Given the description of an element on the screen output the (x, y) to click on. 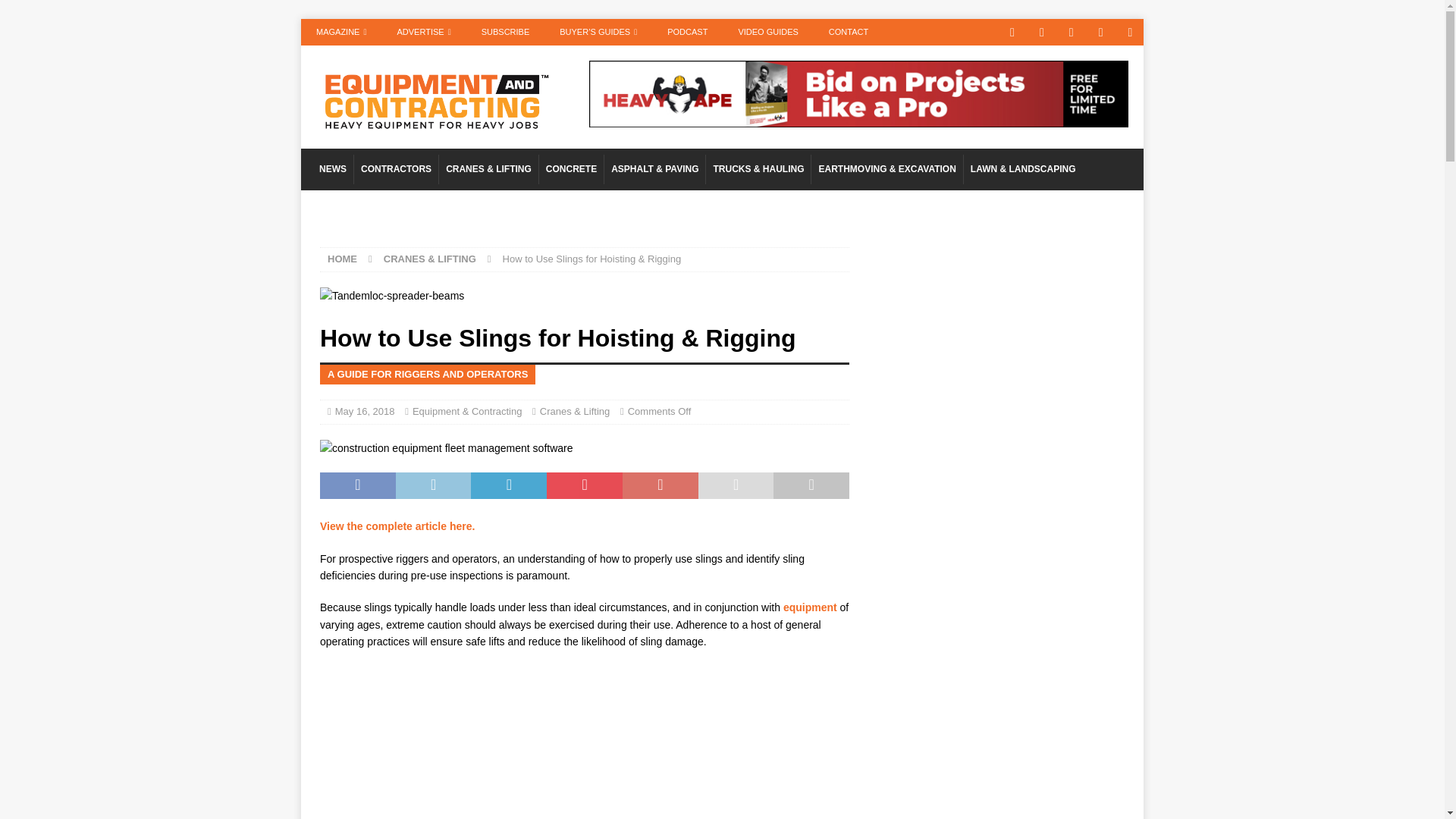
CONTRACTORS (395, 169)
PODCAST (687, 31)
ADVERTISE (423, 31)
MAGAZINE (341, 31)
HoistingRiggingWireSlings (446, 447)
VIDEO GUIDES (767, 31)
SUBSCRIBE (504, 31)
NEWS (333, 169)
YouTube video player (584, 750)
CONCRETE (571, 169)
